Given the description of an element on the screen output the (x, y) to click on. 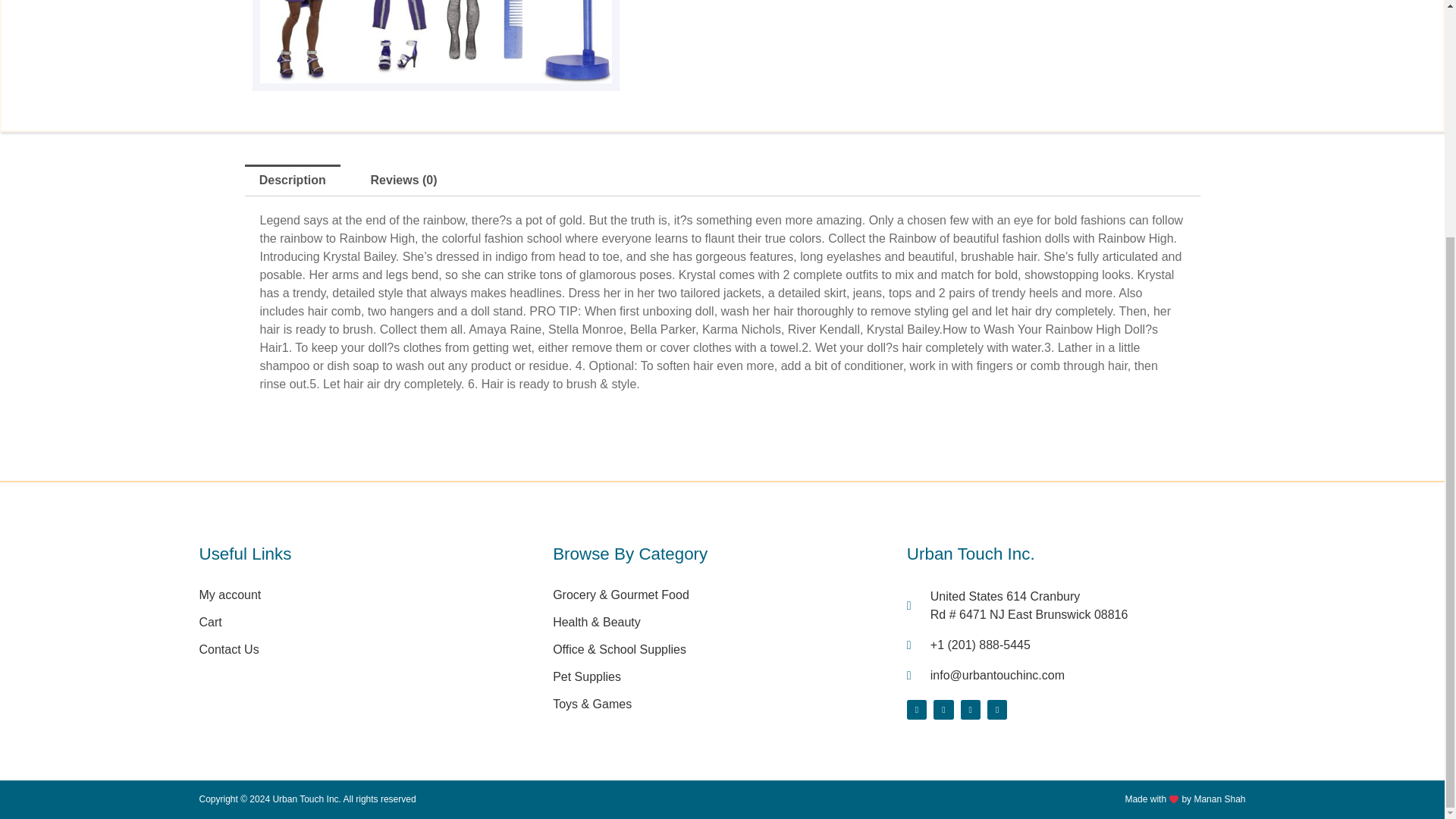
Useful Links (367, 565)
Cart (229, 622)
Urban Touch Inc. (1076, 565)
Made with by Manan Shah (986, 799)
Browse By Category (1076, 701)
Contact Us (722, 565)
Description (229, 649)
My account (291, 180)
